Given the description of an element on the screen output the (x, y) to click on. 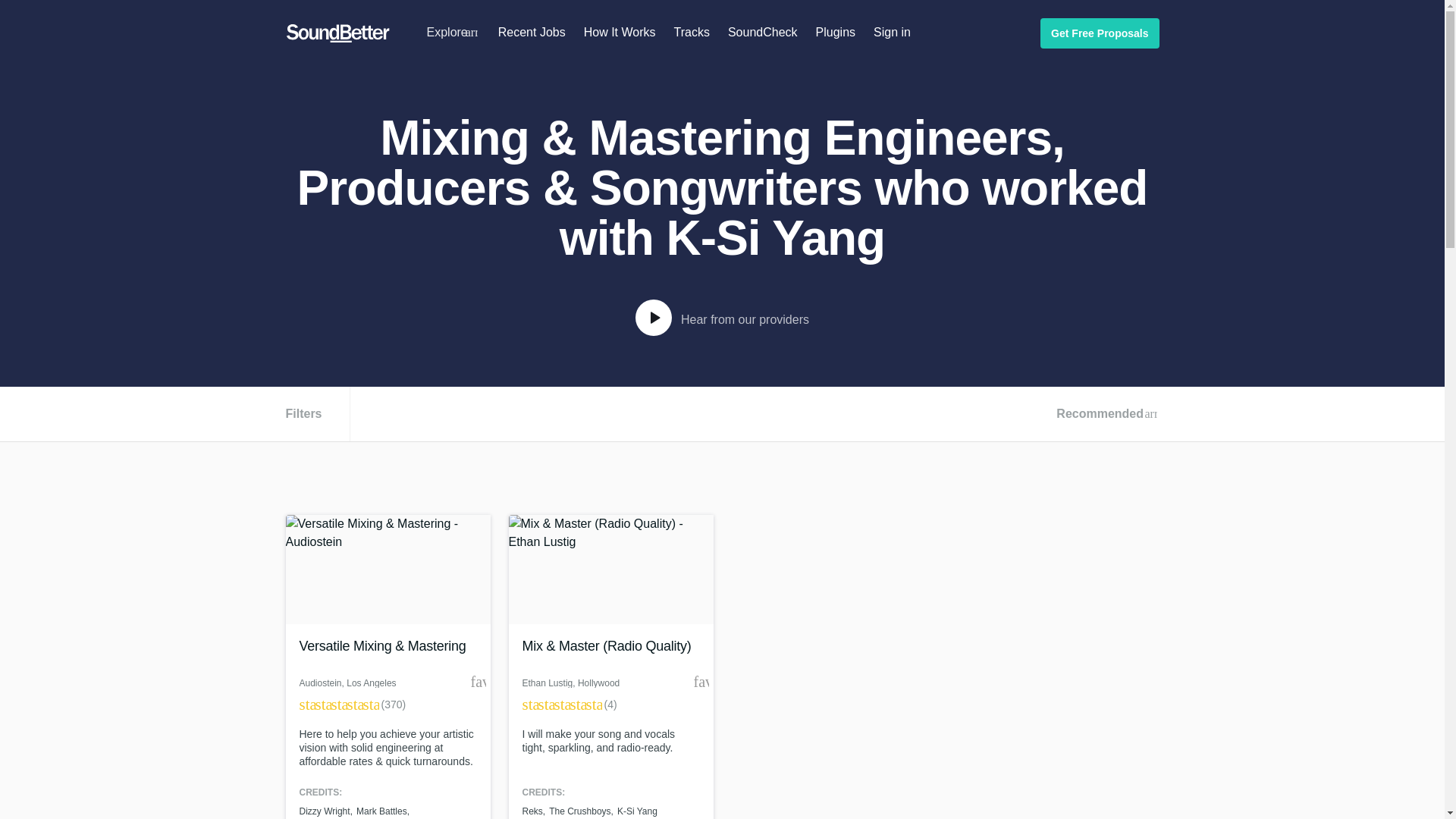
SoundBetter (337, 33)
